Given the description of an element on the screen output the (x, y) to click on. 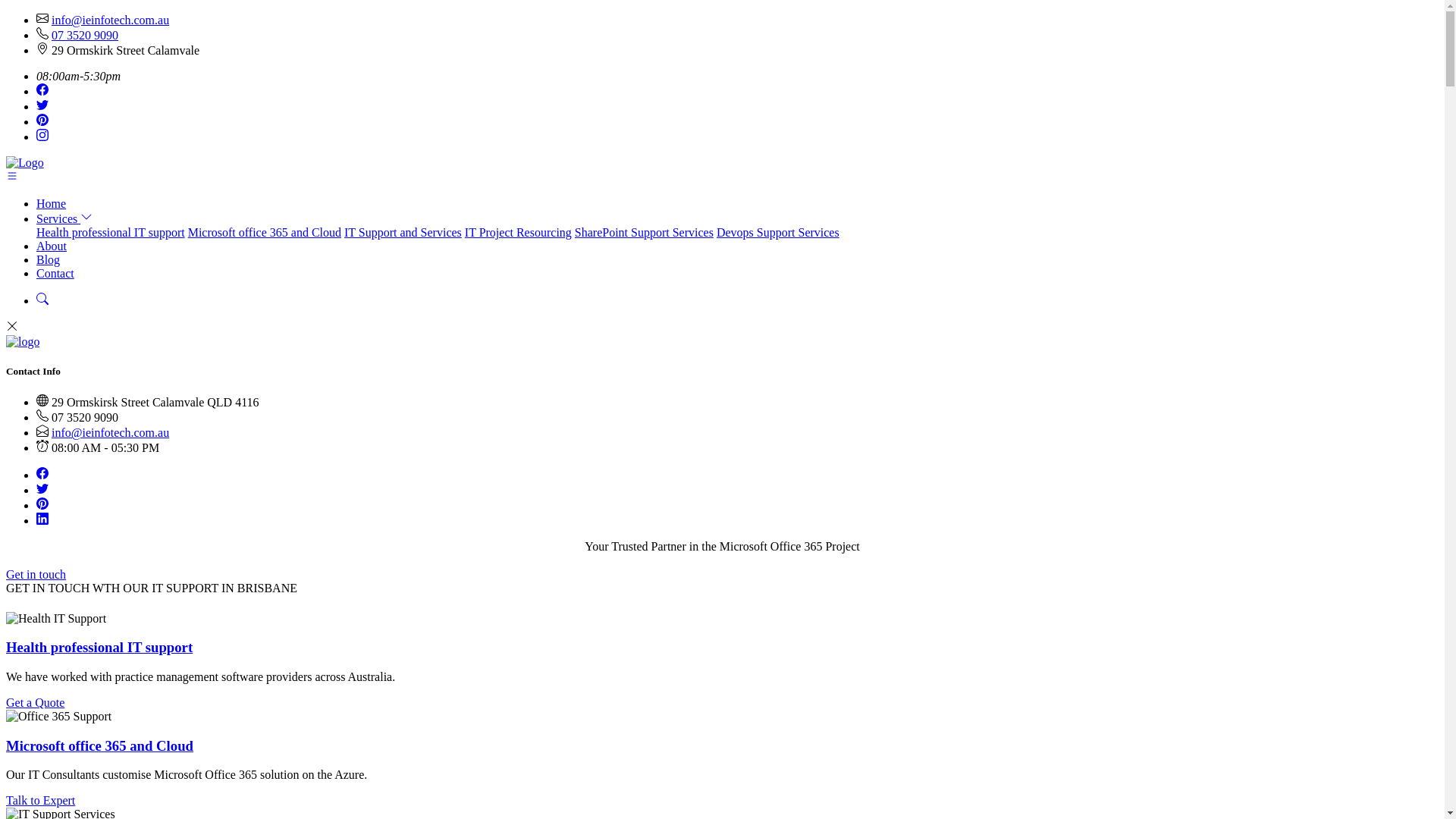
Talk to Expert Element type: text (40, 799)
Microsoft office 365 and Cloud Element type: text (99, 745)
Microsoft office 365 and Cloud Element type: text (264, 231)
Contact Element type: text (55, 272)
IT Support and Services Element type: text (402, 231)
Services Element type: text (64, 218)
Devops Support Services Element type: text (777, 231)
SharePoint Support Services Element type: text (643, 231)
Get a Quote Element type: text (35, 702)
info@ieinfotech.com.au Element type: text (110, 432)
Blog Element type: text (47, 259)
Health professional IT support Element type: text (110, 231)
Home Element type: text (50, 203)
07 3520 9090 Element type: text (84, 34)
IT Project Resourcing Element type: text (517, 231)
Health professional IT support Element type: text (99, 647)
About Element type: text (51, 245)
Get in touch Element type: text (35, 573)
info@ieinfotech.com.au Element type: text (110, 19)
